Given the description of an element on the screen output the (x, y) to click on. 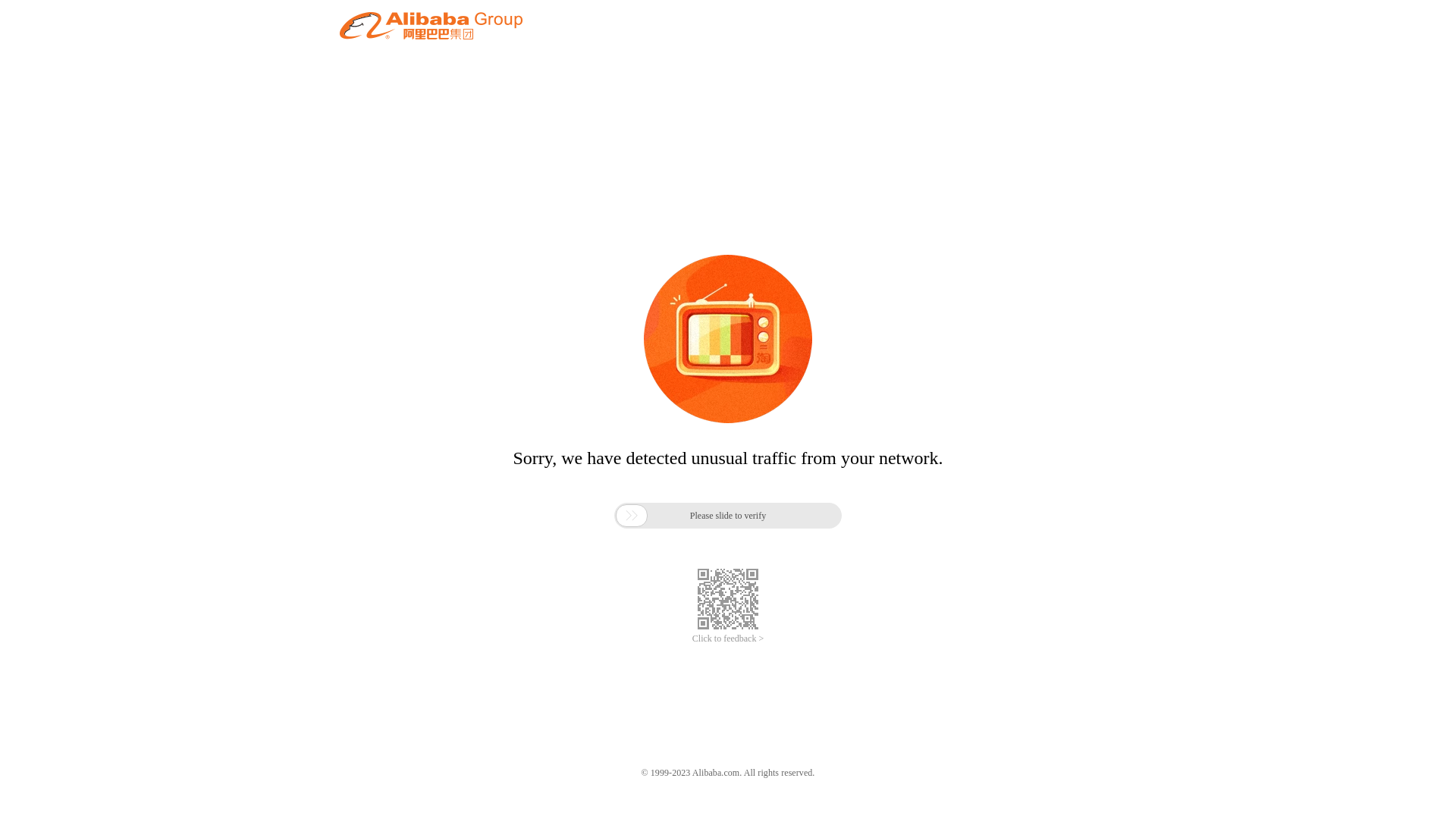
Click to feedback > Element type: text (727, 638)
